Given the description of an element on the screen output the (x, y) to click on. 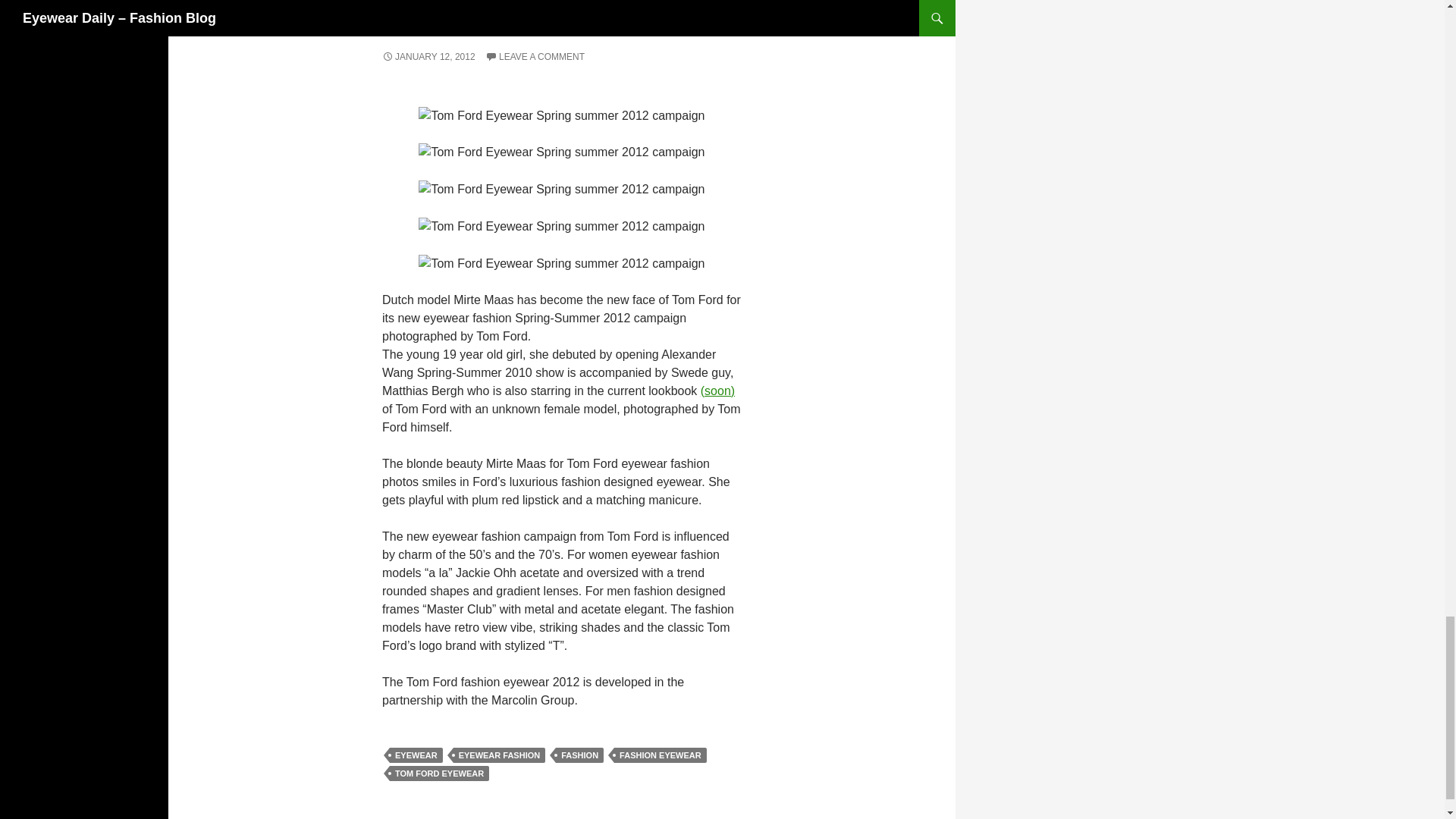
FASHION EYEWEAR (660, 754)
LEAVE A COMMENT (534, 56)
JANUARY 12, 2012 (428, 56)
EYEWEAR FASHION (499, 754)
FASHION (580, 754)
EYEWEAR (416, 754)
TOM FORD EYEWEAR (439, 773)
